Given the description of an element on the screen output the (x, y) to click on. 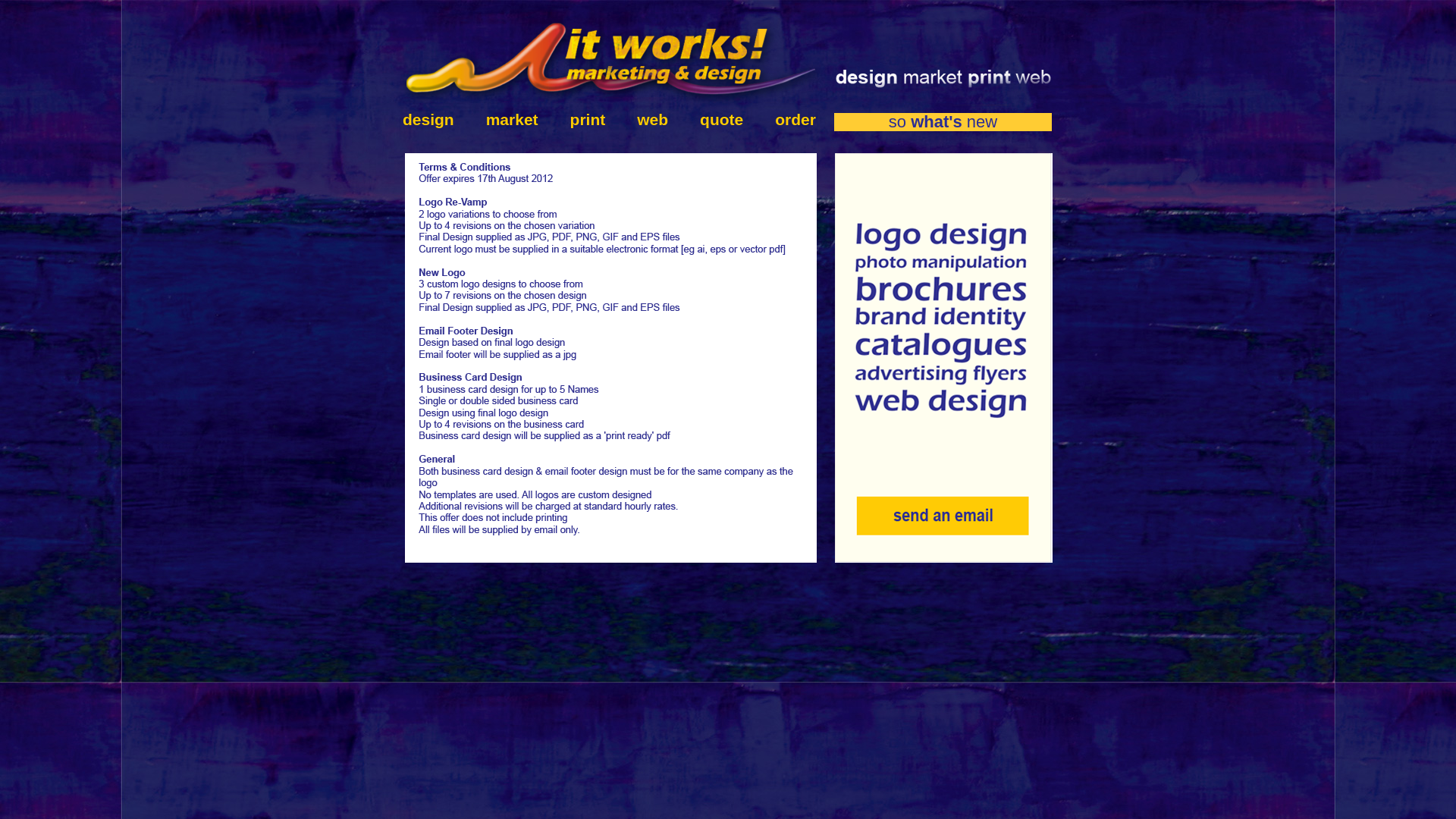
so what's new Element type: text (942, 121)
print Element type: text (587, 119)
quote Element type: text (721, 119)
order Element type: text (787, 119)
market Element type: text (512, 119)
design Element type: text (428, 119)
web Element type: text (652, 119)
